Given the description of an element on the screen output the (x, y) to click on. 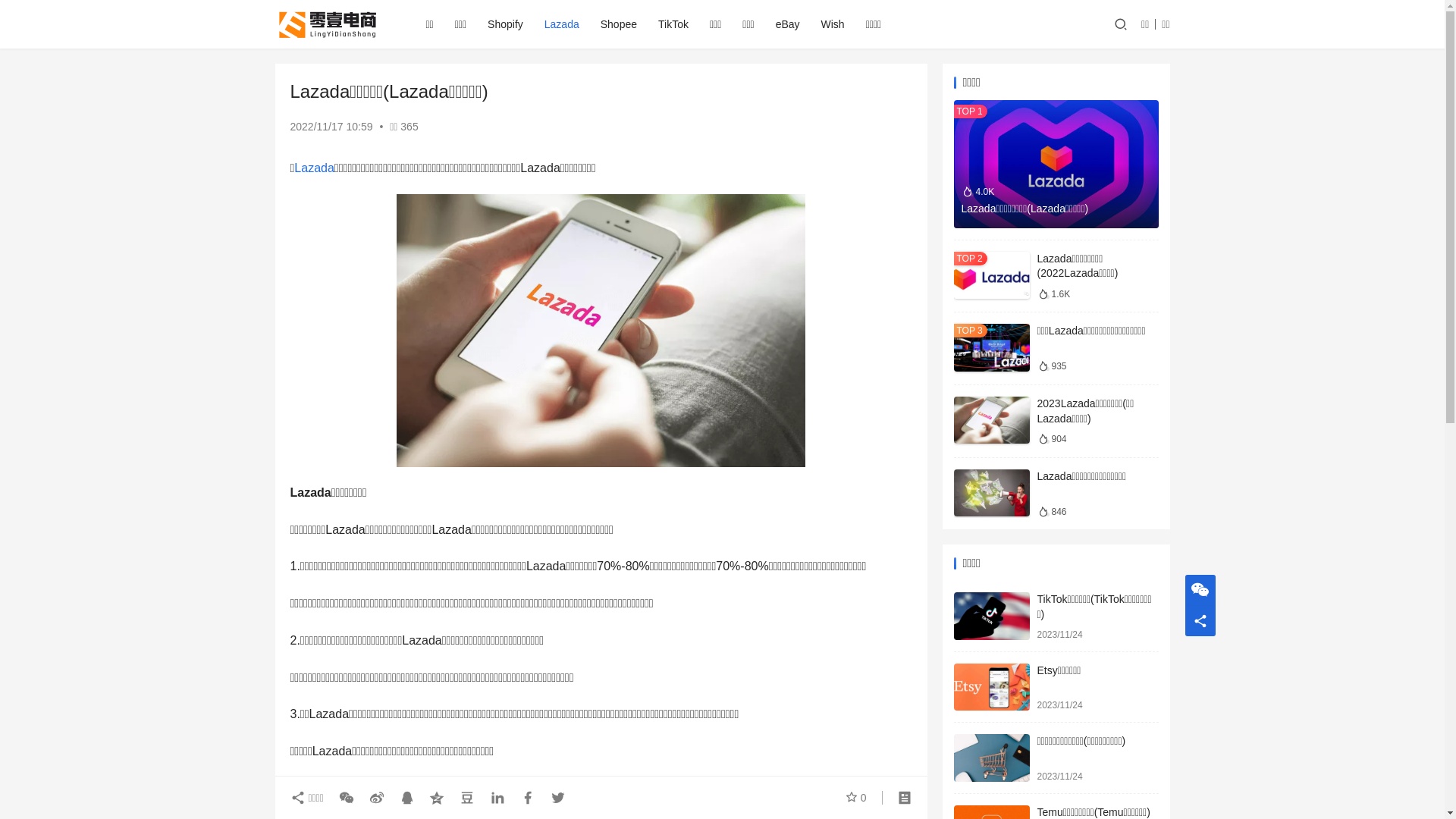
TikTok Element type: text (673, 24)
0 Element type: text (855, 797)
Lazada Element type: text (561, 24)
Lazada Element type: text (314, 167)
Wish Element type: text (832, 24)
Shopify Element type: text (504, 24)
Shopee Element type: text (618, 24)
eBay Element type: text (787, 24)
